Given the description of an element on the screen output the (x, y) to click on. 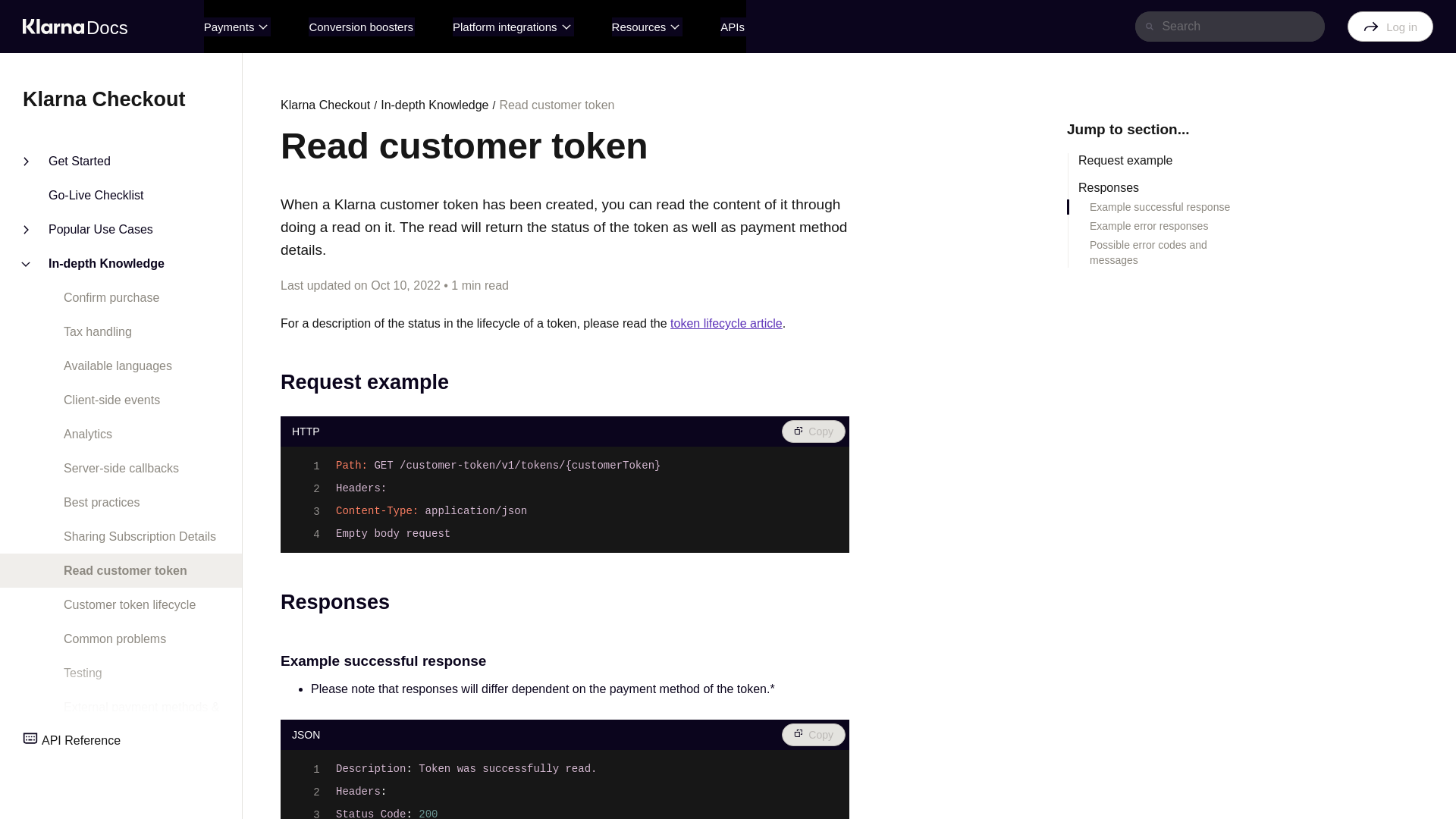
Server-side callbacks (104, 467)
Klarna Checkout (121, 98)
Read customer token (108, 570)
Responses (1161, 187)
APIs (732, 26)
Client-side events (95, 399)
Example error responses (1161, 225)
Home (75, 26)
Request example (1161, 160)
Best practices (84, 502)
Go-Live Checklist (78, 194)
Example successful response (1161, 206)
Get Started (71, 160)
In-depth Knowledge (98, 262)
Resources (646, 26)
